Given the description of an element on the screen output the (x, y) to click on. 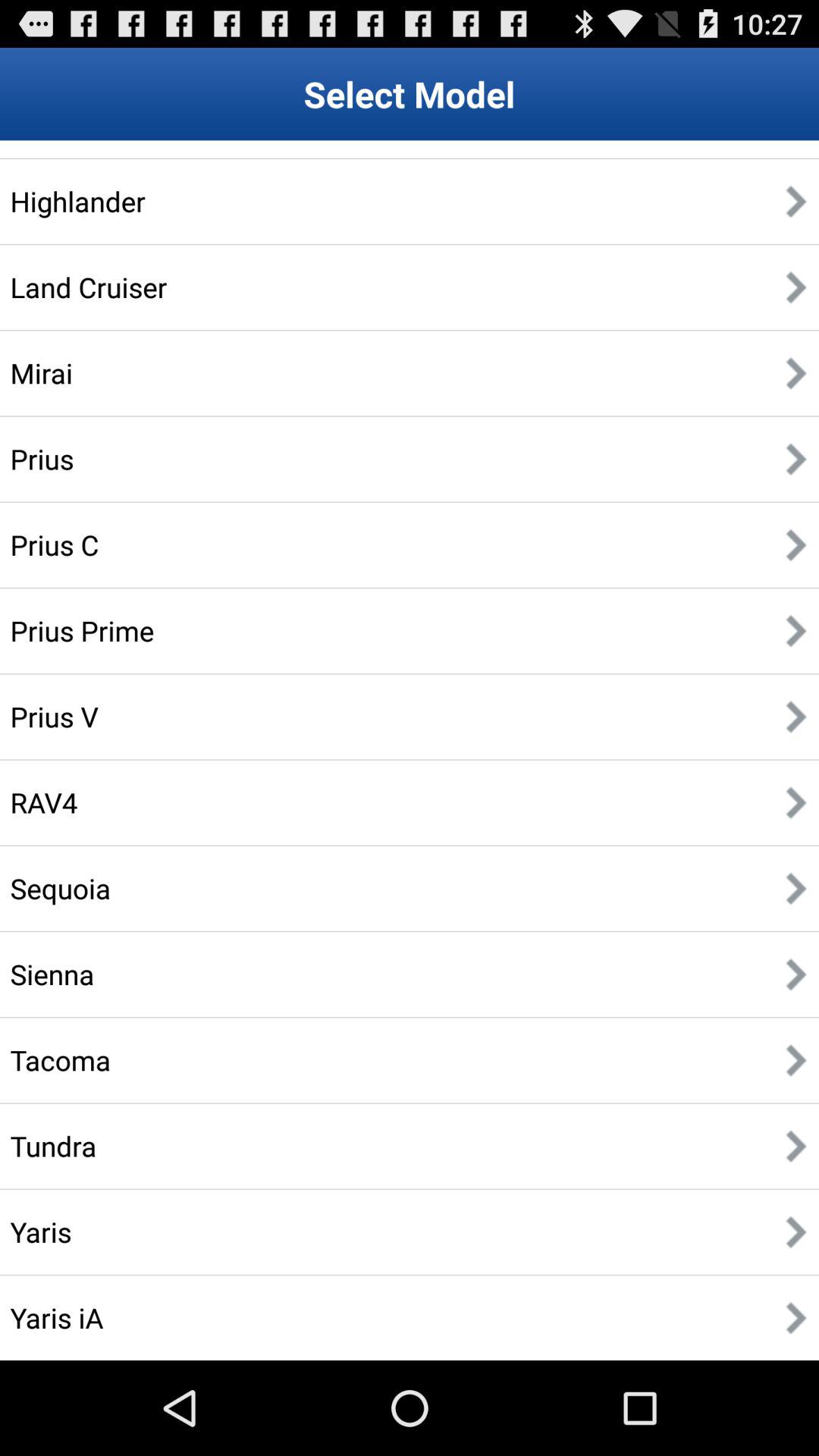
flip to sienna item (52, 974)
